Given the description of an element on the screen output the (x, y) to click on. 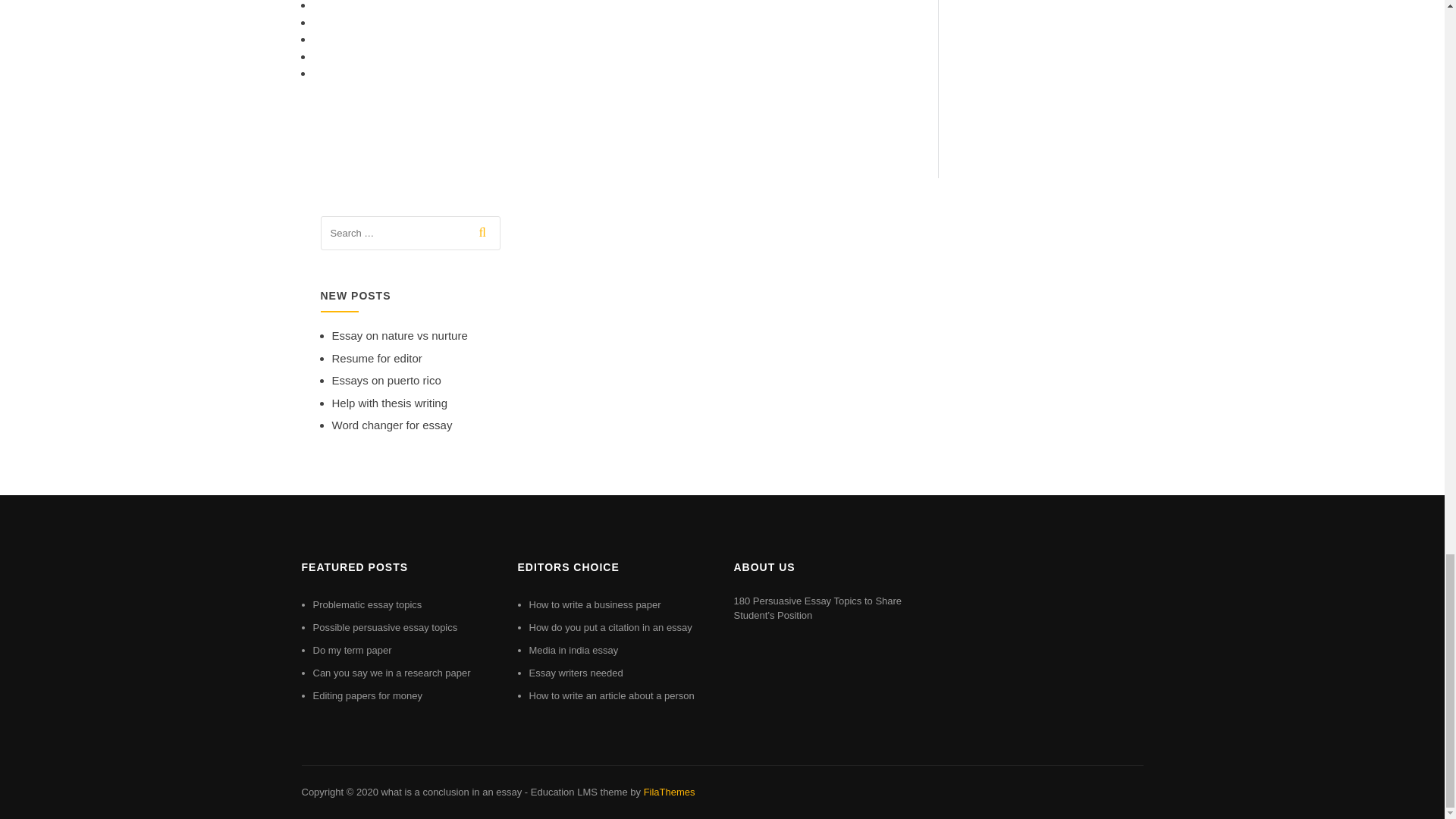
Essays on puerto rico (386, 379)
Resume for editor (376, 358)
Essay writers needed (576, 672)
How to write a business paper (595, 604)
Can you say we in a research paper (391, 672)
Problematic essay topics (367, 604)
what is a conclusion in an essay (450, 791)
Essay on nature vs nurture (399, 335)
Editing papers for money (367, 695)
Word changer for essay (391, 424)
